Given the description of an element on the screen output the (x, y) to click on. 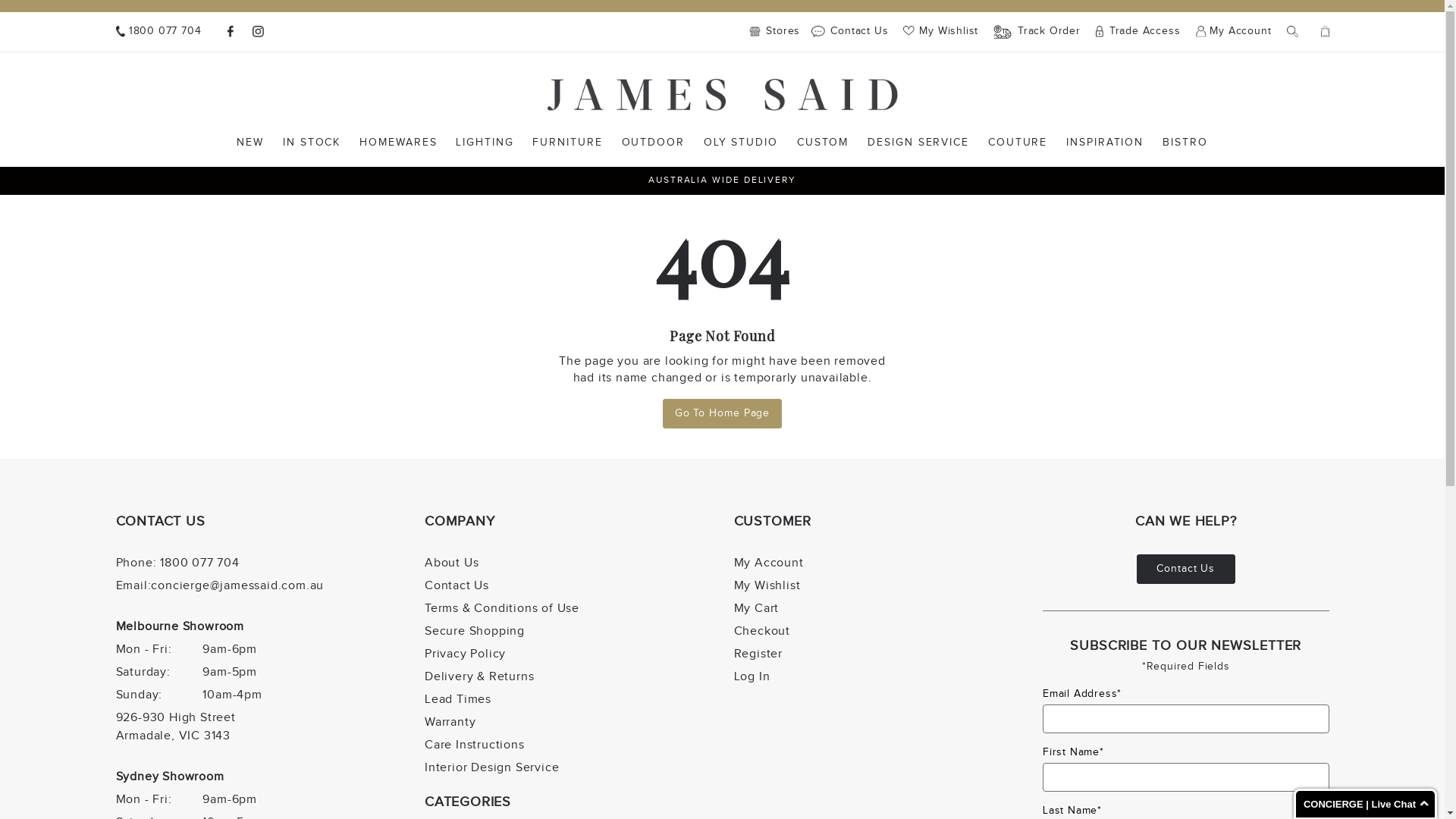
FURNITURE Element type: text (566, 143)
OLY STUDIO Element type: text (740, 143)
Warranty Element type: text (449, 721)
DESIGN SERVICE Element type: text (917, 143)
My Cart Element type: text (756, 608)
Jamessaid Element type: hover (722, 94)
BISTRO Element type: text (1184, 143)
NEW Element type: text (250, 143)
Privacy Policy Element type: text (464, 653)
Interior Design Service Element type: text (491, 767)
Register Element type: text (758, 653)
My Cart Element type: text (1325, 31)
Track Order Element type: text (1036, 31)
Stores Element type: text (778, 31)
My Wishlist Element type: text (767, 585)
Secure Shopping Element type: text (474, 630)
COUTURE Element type: text (1017, 143)
Contact Us Element type: text (456, 585)
Trade Access Element type: text (1137, 31)
Contact Us Element type: text (1185, 568)
Lead Times Element type: text (457, 699)
Go To Home Page Element type: text (722, 413)
Delivery & Returns Element type: text (478, 676)
AUSTRALIA WIDE DELIVERY Element type: text (722, 179)
My Account Element type: text (768, 562)
CUSTOM Element type: text (822, 143)
My Wishlist Element type: text (940, 31)
Terms & Conditions of Use Element type: text (501, 608)
HOMEWARES Element type: text (397, 143)
IN STOCK Element type: text (311, 143)
LIGHTING Element type: text (484, 143)
concierge@jamessaid.com.au Element type: text (236, 585)
OUTDOOR Element type: text (653, 143)
Contact Us Element type: text (849, 31)
About Us Element type: text (451, 562)
INSPIRATION Element type: text (1104, 143)
1800 077 704 Element type: text (199, 562)
My Account Element type: text (1232, 31)
Log In Element type: text (752, 676)
1800 077 704 Element type: text (157, 31)
Checkout Element type: text (762, 630)
Care Instructions Element type: text (474, 744)
